Given the description of an element on the screen output the (x, y) to click on. 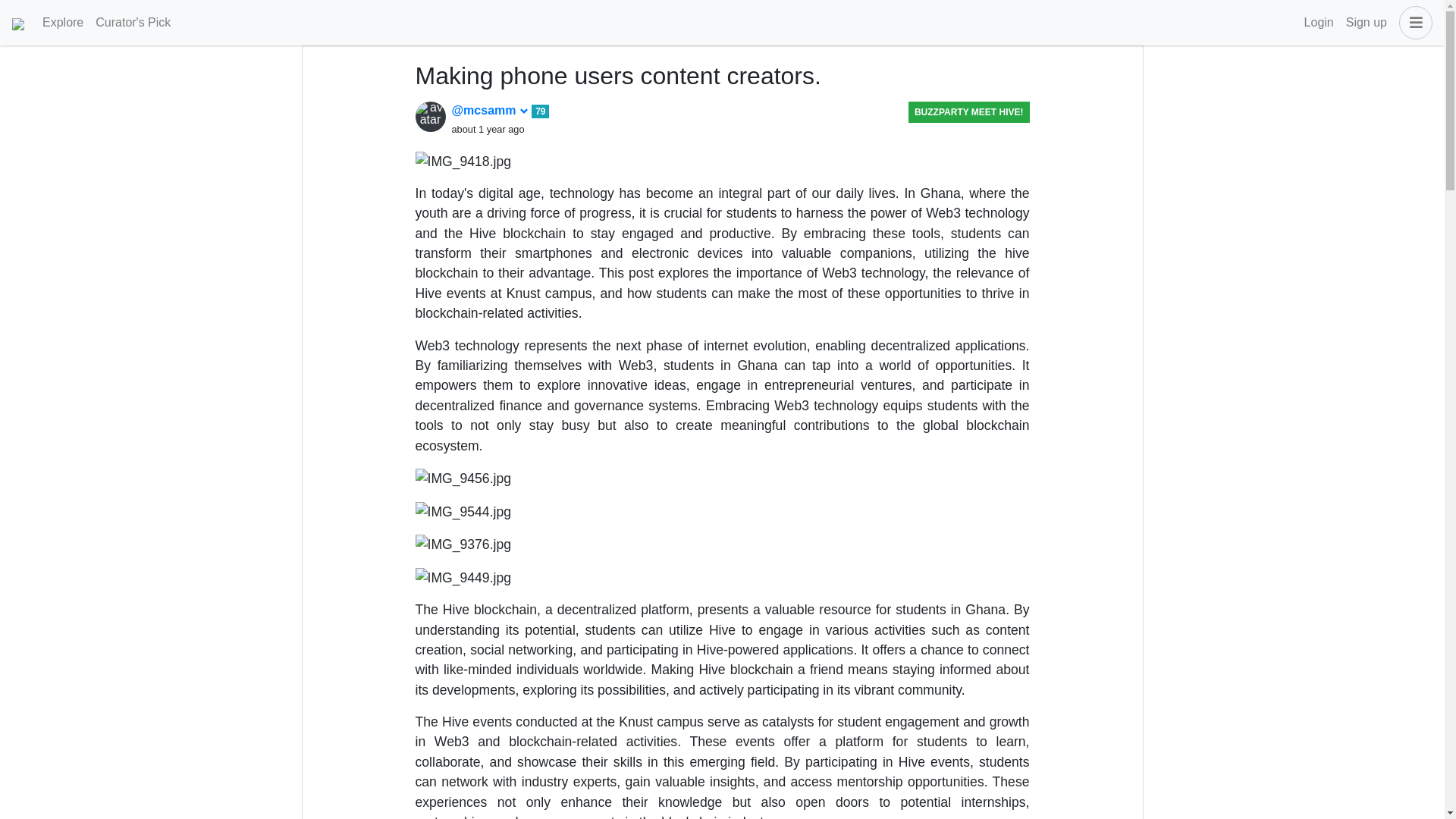
Login (1318, 22)
BUZZPARTY MEET HIVE! (968, 112)
Explore (62, 22)
Sign up (1366, 22)
Curator's Pick (132, 22)
